Given the description of an element on the screen output the (x, y) to click on. 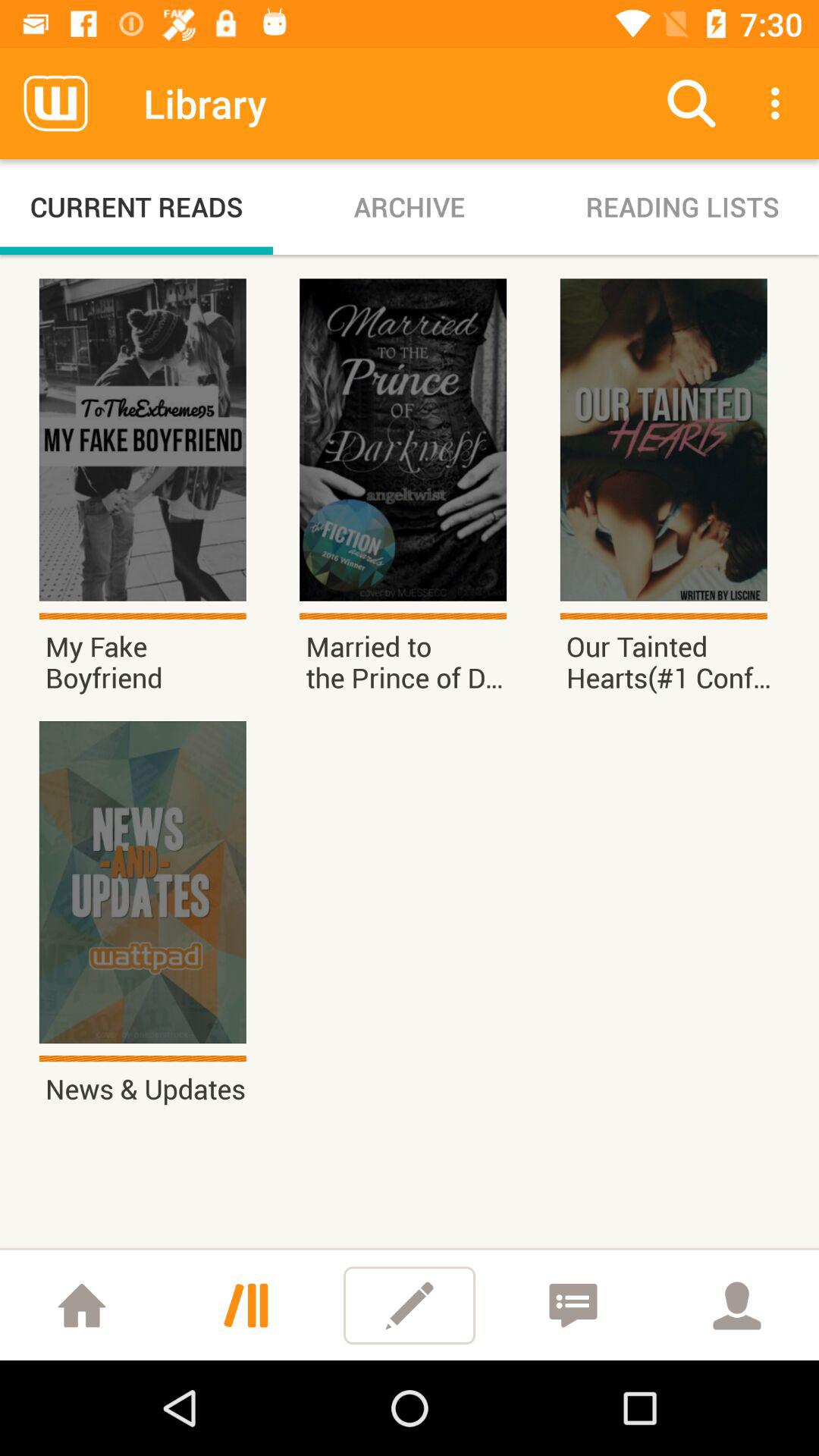
turn off the icon above the reading lists item (691, 103)
